Given the description of an element on the screen output the (x, y) to click on. 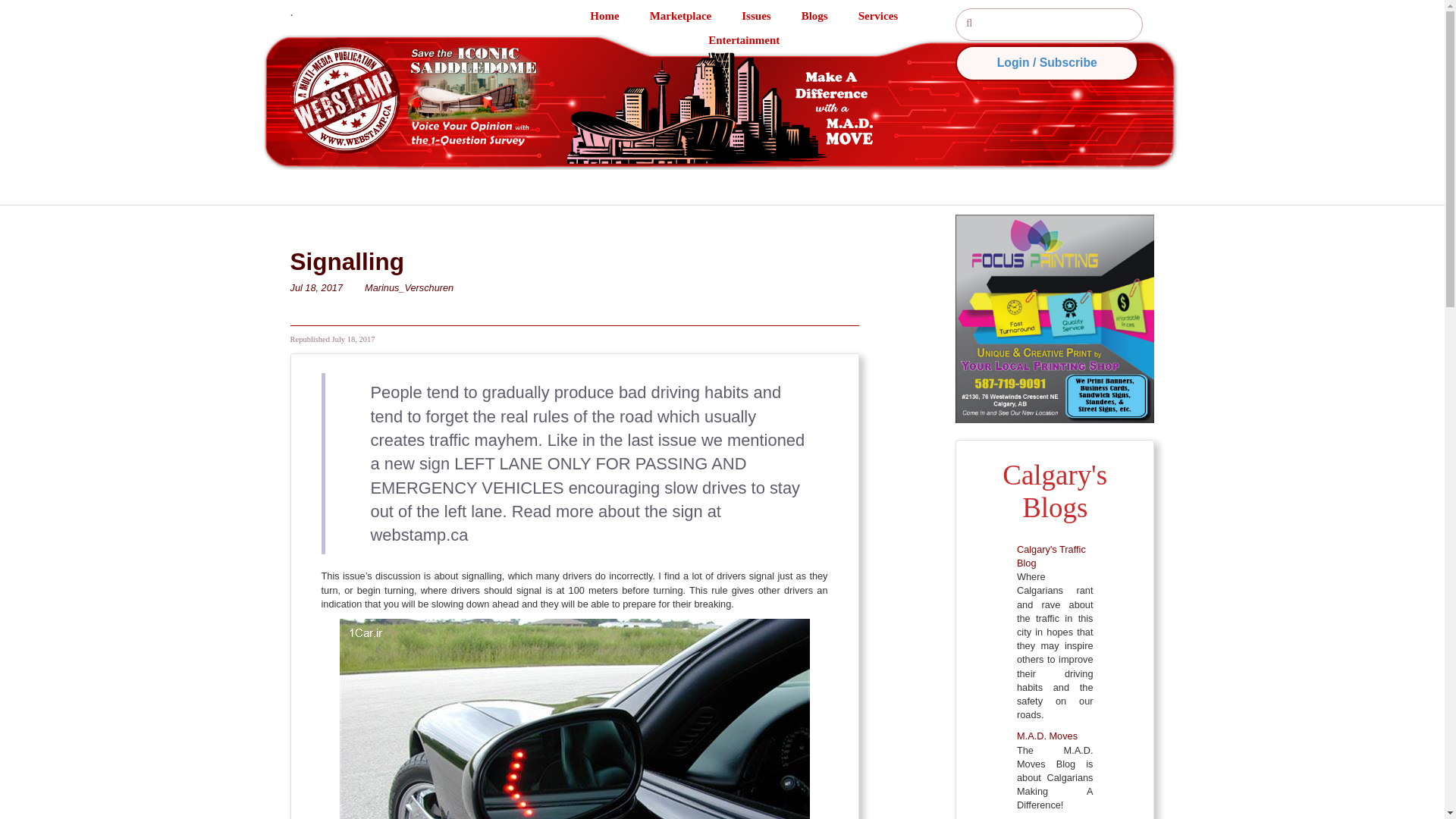
Home (619, 15)
Calgary's Traffic Blog (1051, 555)
M.A.D. Moves (1046, 736)
Marketplace (695, 15)
Blogs (830, 15)
Services (893, 15)
Issues (770, 15)
Entertainment (758, 39)
